Given the description of an element on the screen output the (x, y) to click on. 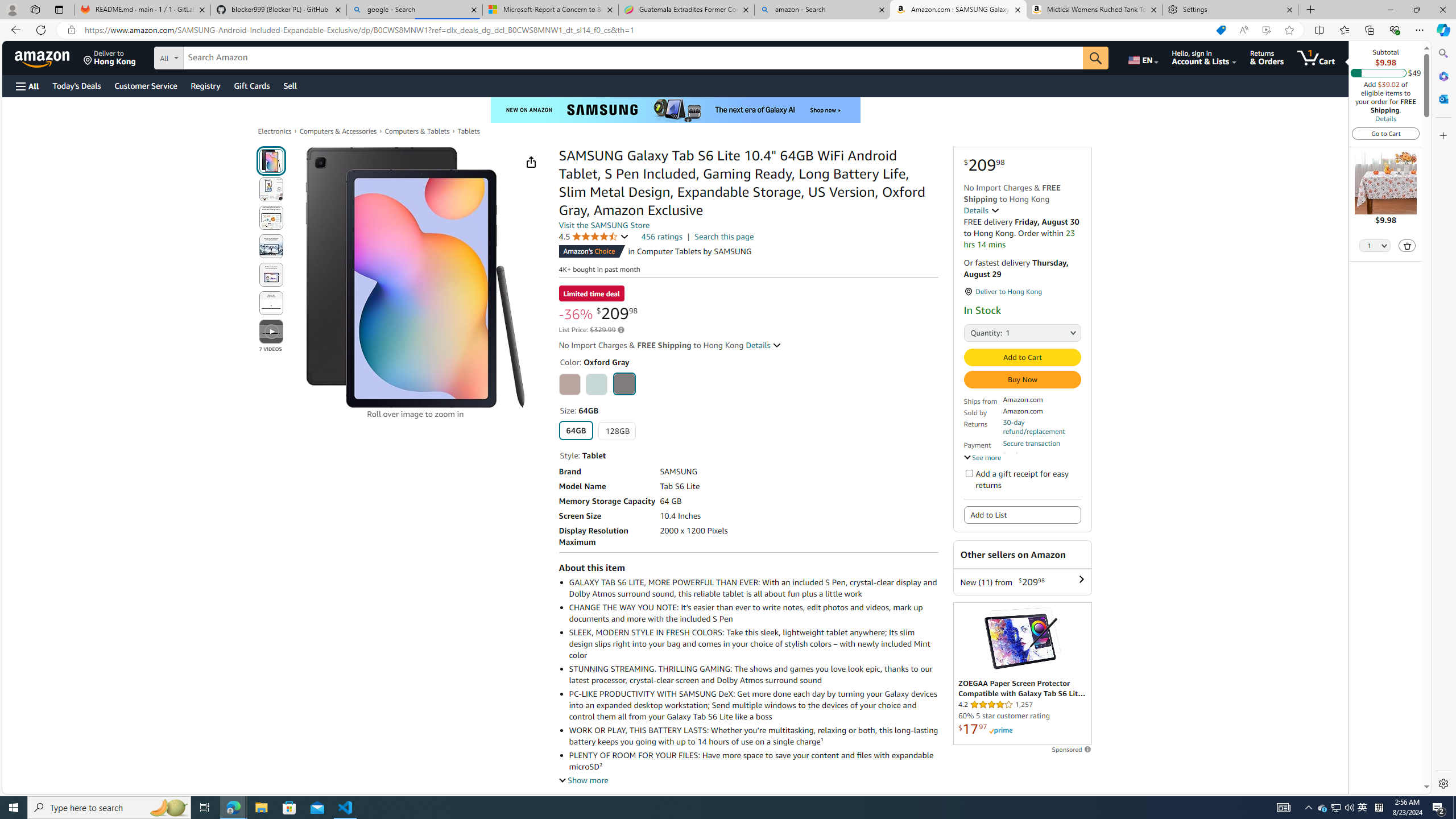
Electronics (274, 131)
Tablets (468, 131)
Learn more about Amazon pricing and savings (620, 329)
Returns & Orders (1266, 57)
Customer Service (145, 85)
Buy Now (1021, 379)
Delete (1407, 245)
Quantity: (974, 331)
Product support included (1042, 460)
